Given the description of an element on the screen output the (x, y) to click on. 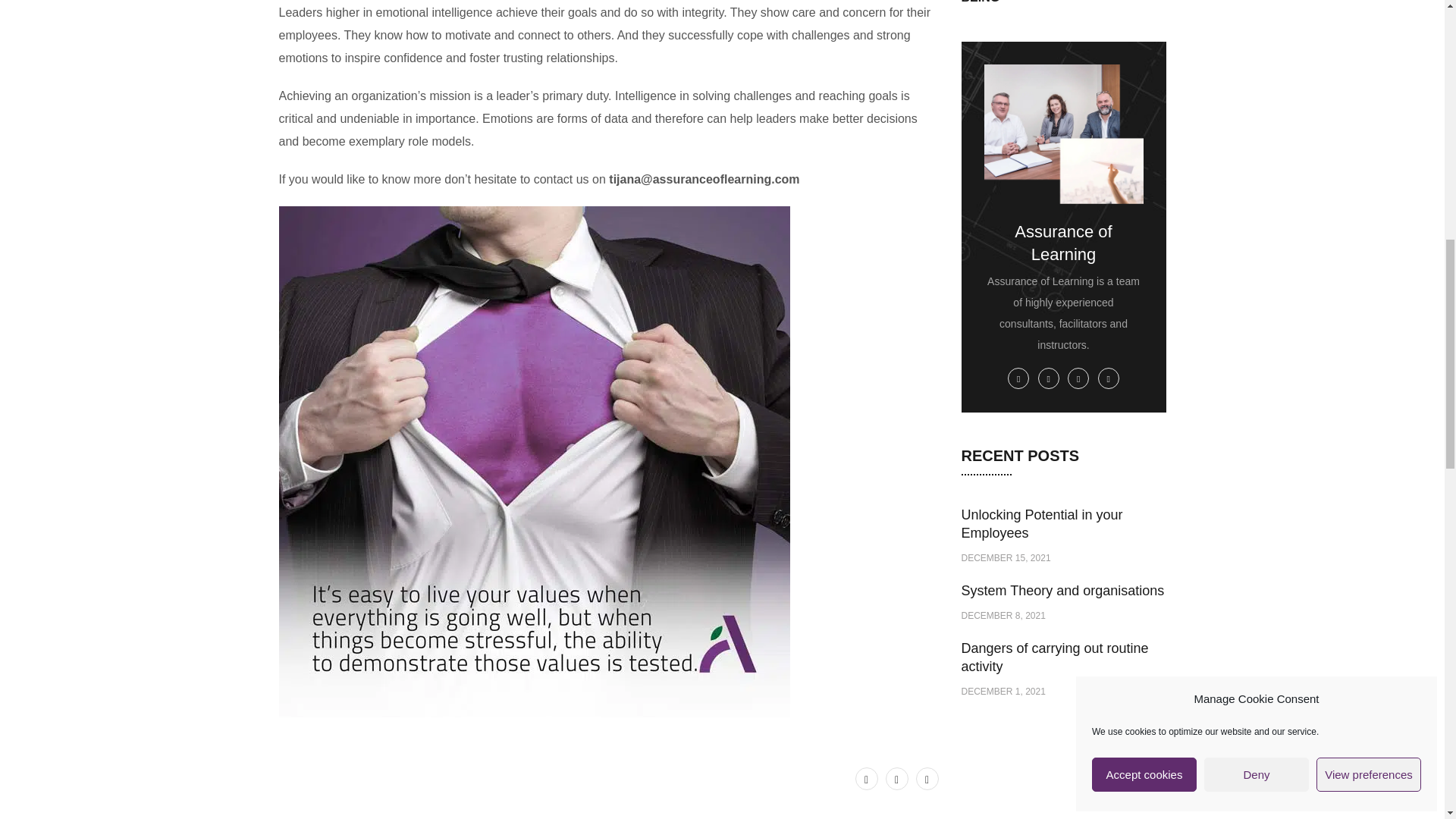
Twitter (866, 778)
Facebook (896, 778)
LinkedIn (927, 778)
